Given the description of an element on the screen output the (x, y) to click on. 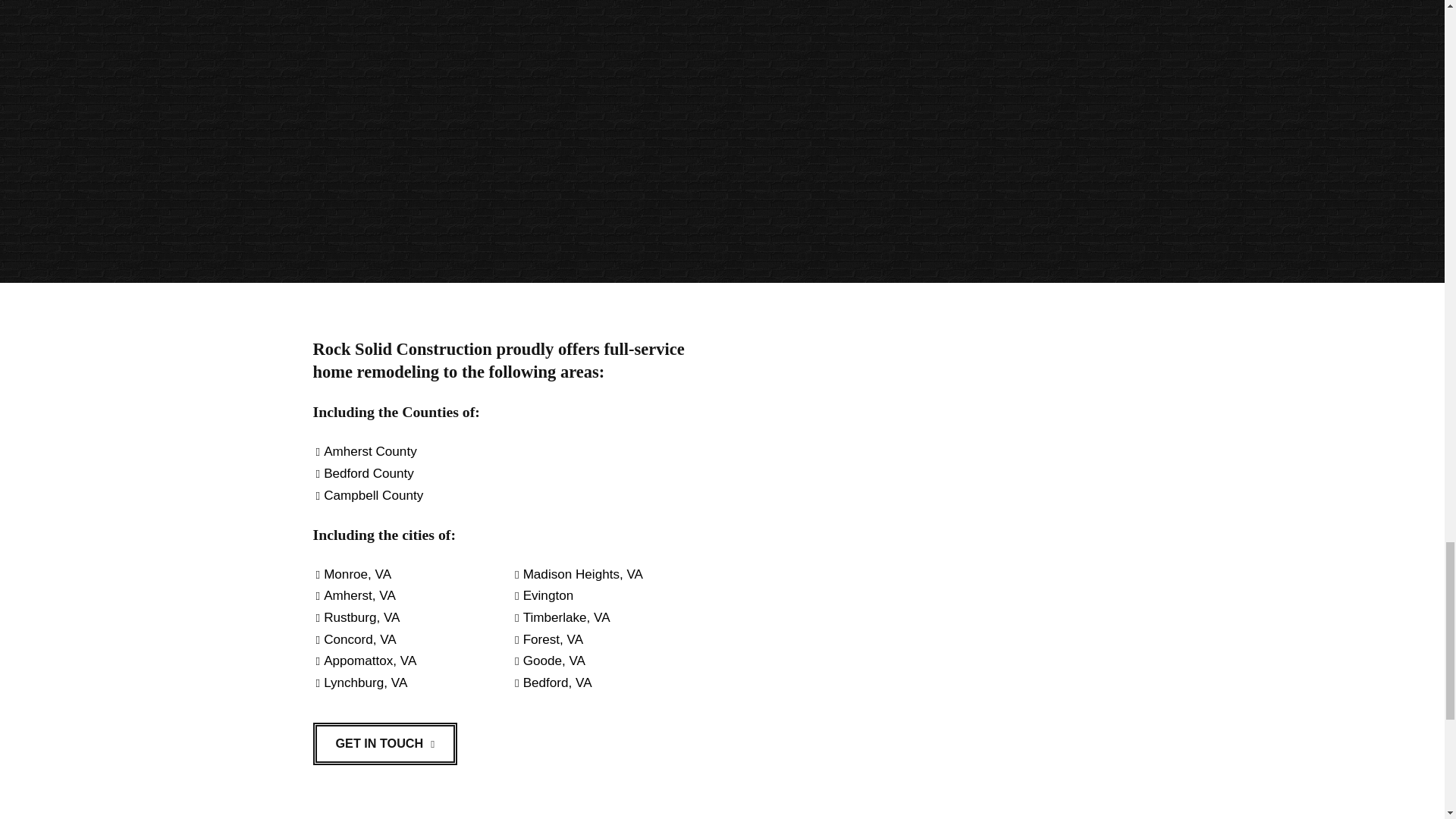
GET IN TOUCH (385, 743)
